Given the description of an element on the screen output the (x, y) to click on. 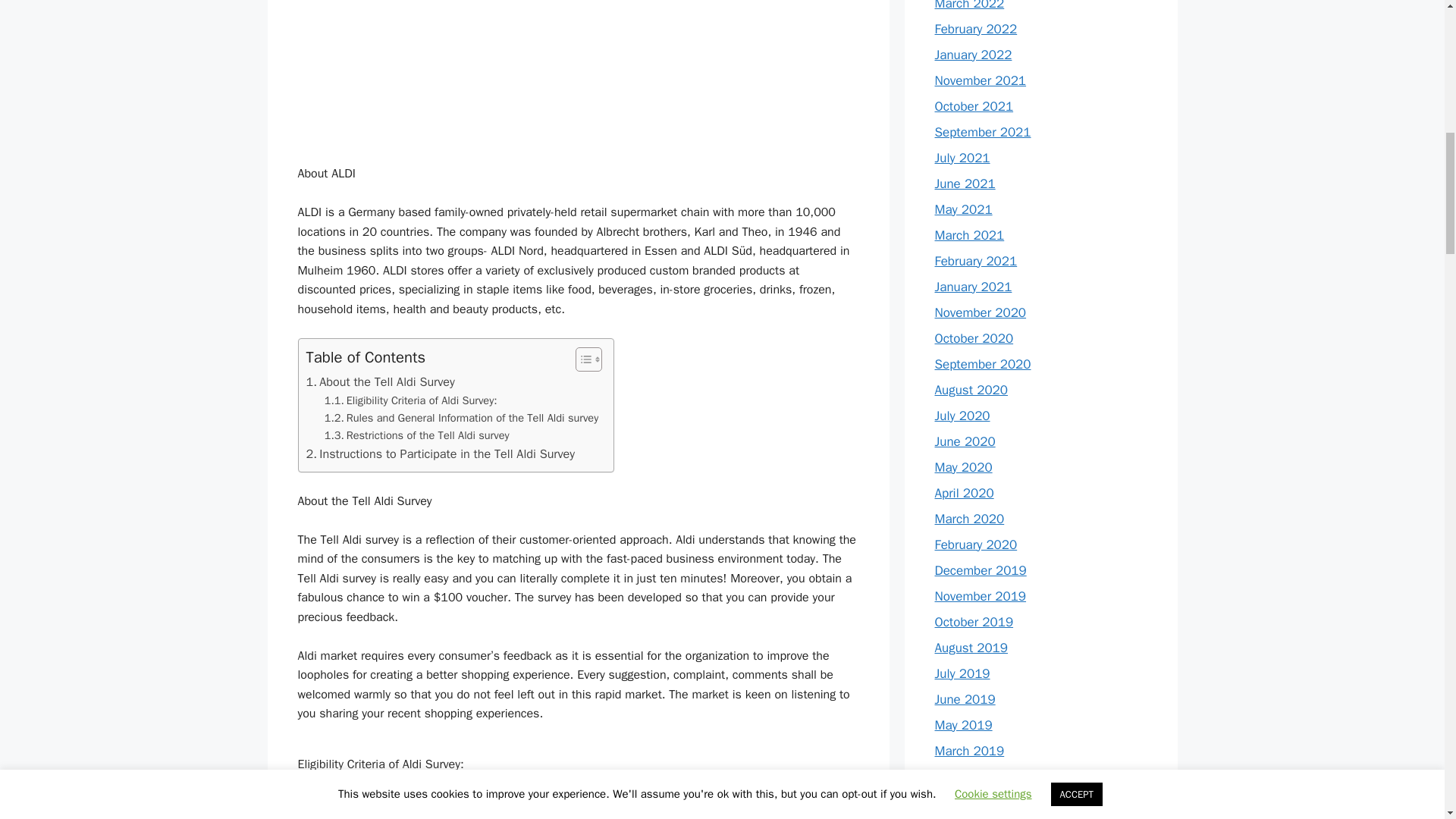
Instructions to Participate in the Tell Aldi Survey (440, 454)
Rules and General Information of the Tell Aldi survey (461, 417)
About the Tell Aldi Survey (379, 382)
Eligibility Criteria of Aldi Survey: (410, 400)
Instructions to Participate in the Tell Aldi Survey (440, 454)
About the Tell Aldi Survey (379, 382)
Restrictions of the Tell Aldi survey (416, 435)
Advertisement (578, 72)
Restrictions of the Tell Aldi survey (416, 435)
Rules and General Information of the Tell Aldi survey (461, 417)
